Given the description of an element on the screen output the (x, y) to click on. 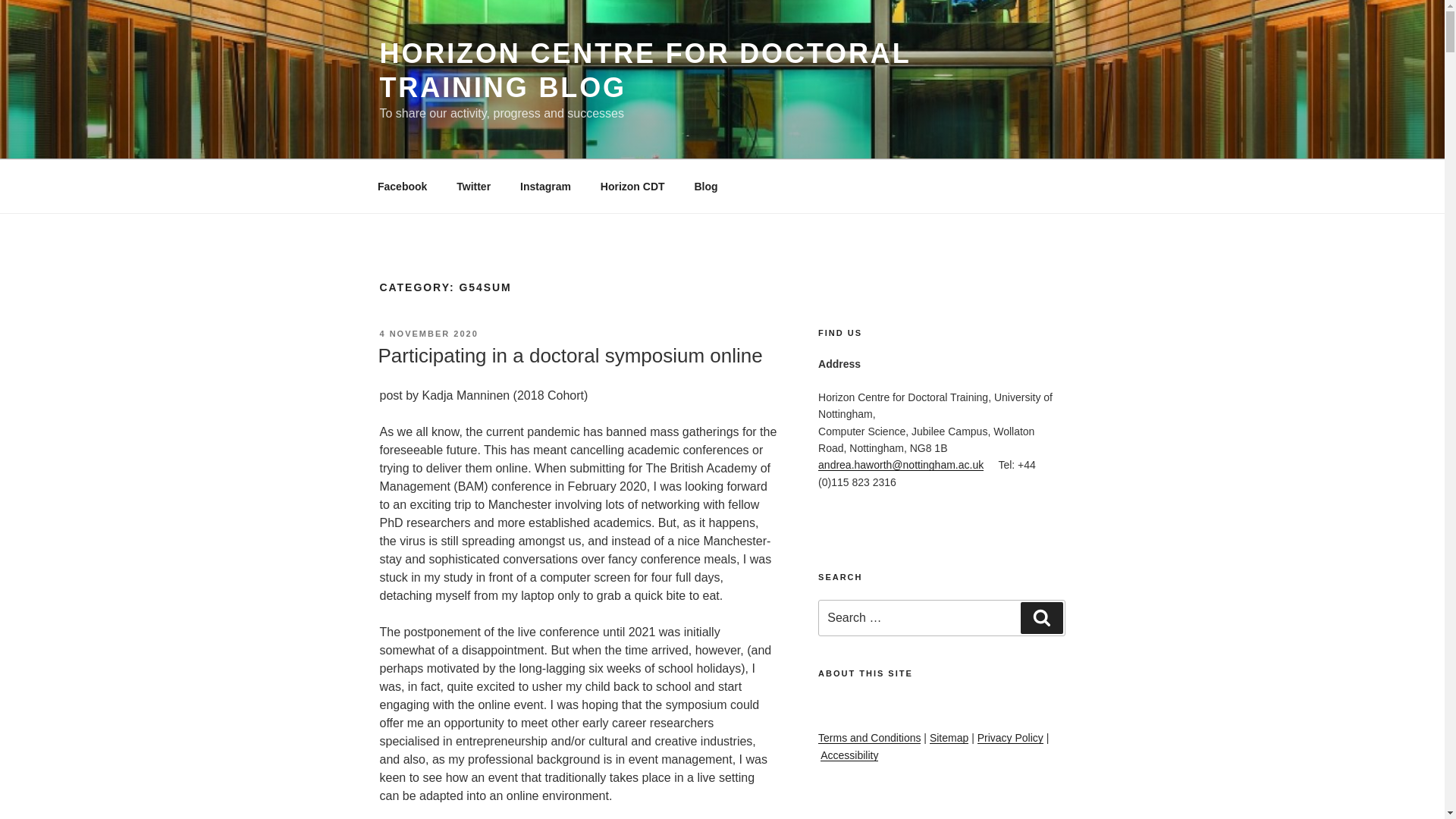
Blog (705, 186)
Search (1041, 617)
Instagram (544, 186)
Terms and Conditions (869, 737)
HORIZON CENTRE FOR DOCTORAL TRAINING BLOG (644, 70)
Privacy Policy (1009, 737)
Facebook (401, 186)
4 NOVEMBER 2020 (427, 333)
Horizon CDT (632, 186)
Participating in a doctoral symposium online (569, 354)
Twitter (473, 186)
Sitemap (949, 737)
Accessibility (849, 755)
